Given the description of an element on the screen output the (x, y) to click on. 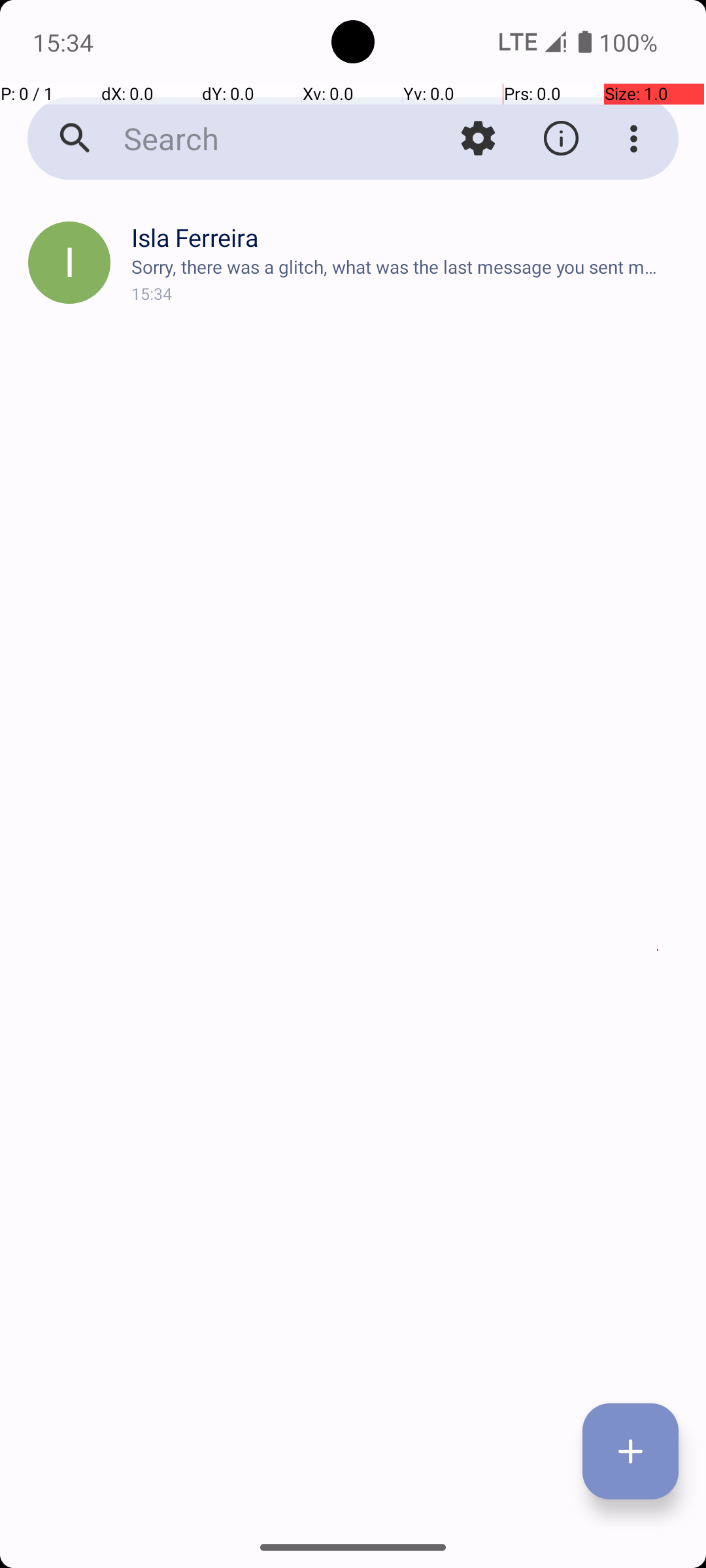
Isla Ferreira Element type: android.widget.TextView (408, 237)
